Given the description of an element on the screen output the (x, y) to click on. 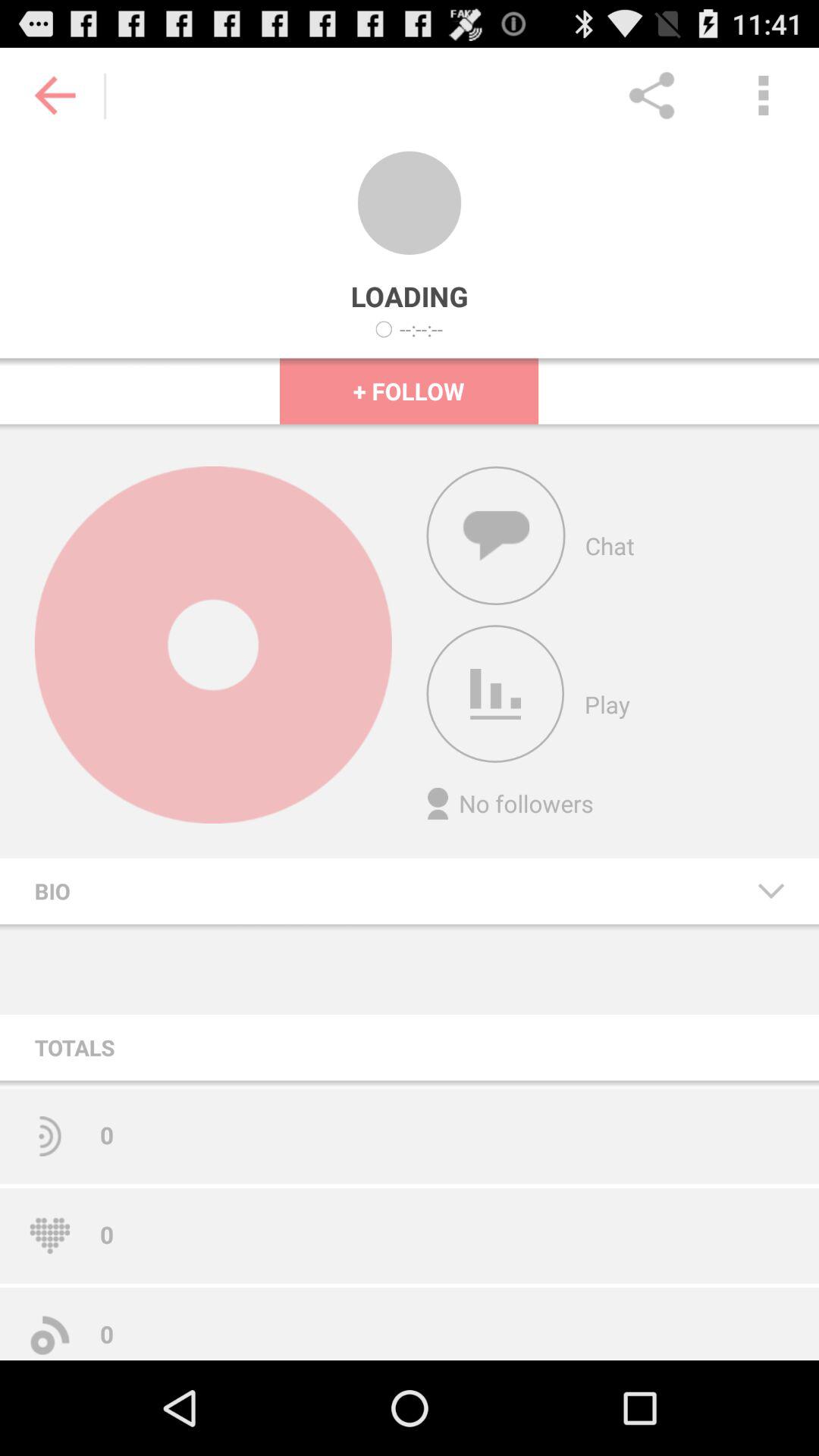
play the audio (495, 694)
